Given the description of an element on the screen output the (x, y) to click on. 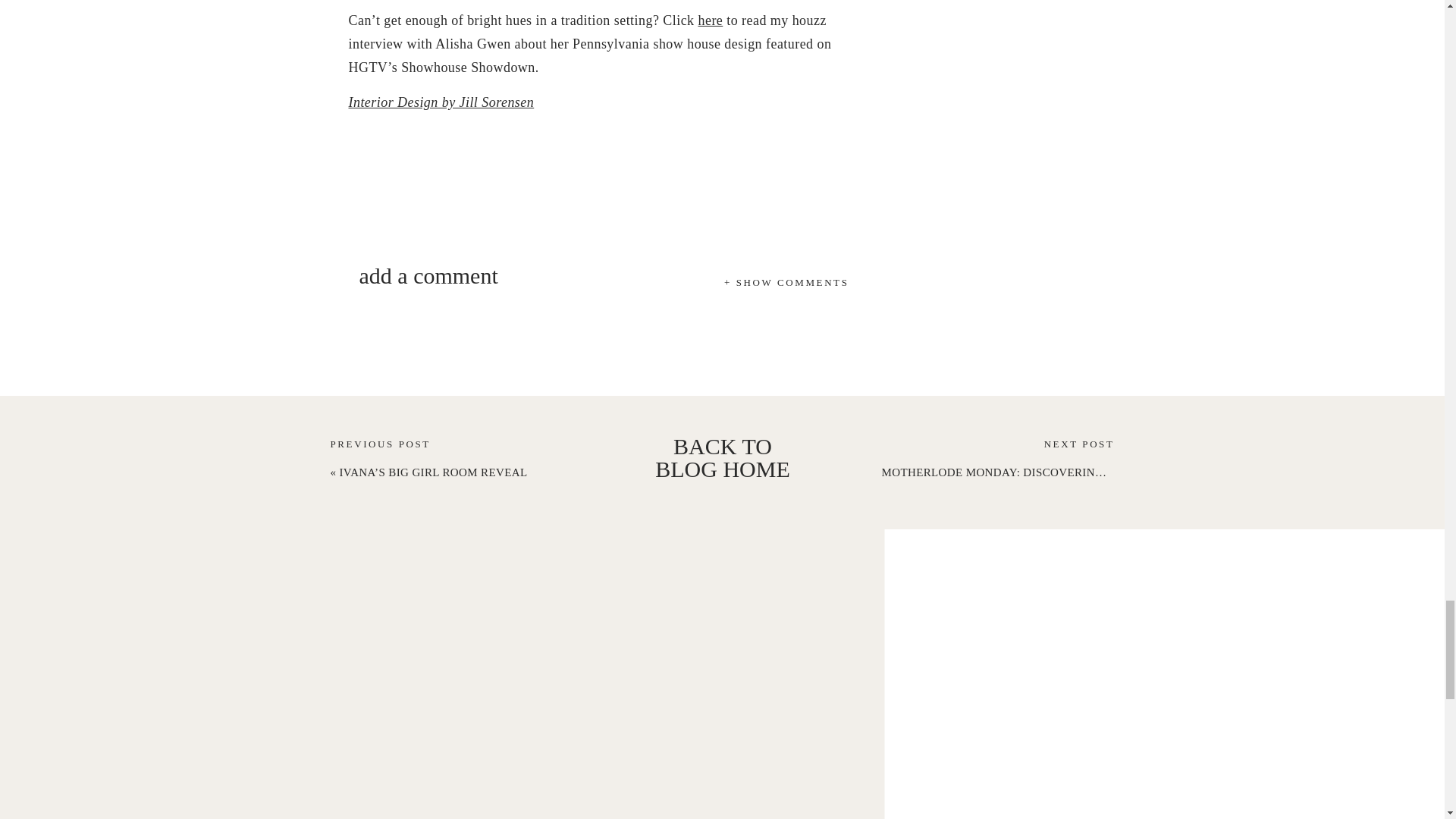
Marmalade Interiors (441, 102)
